Given the description of an element on the screen output the (x, y) to click on. 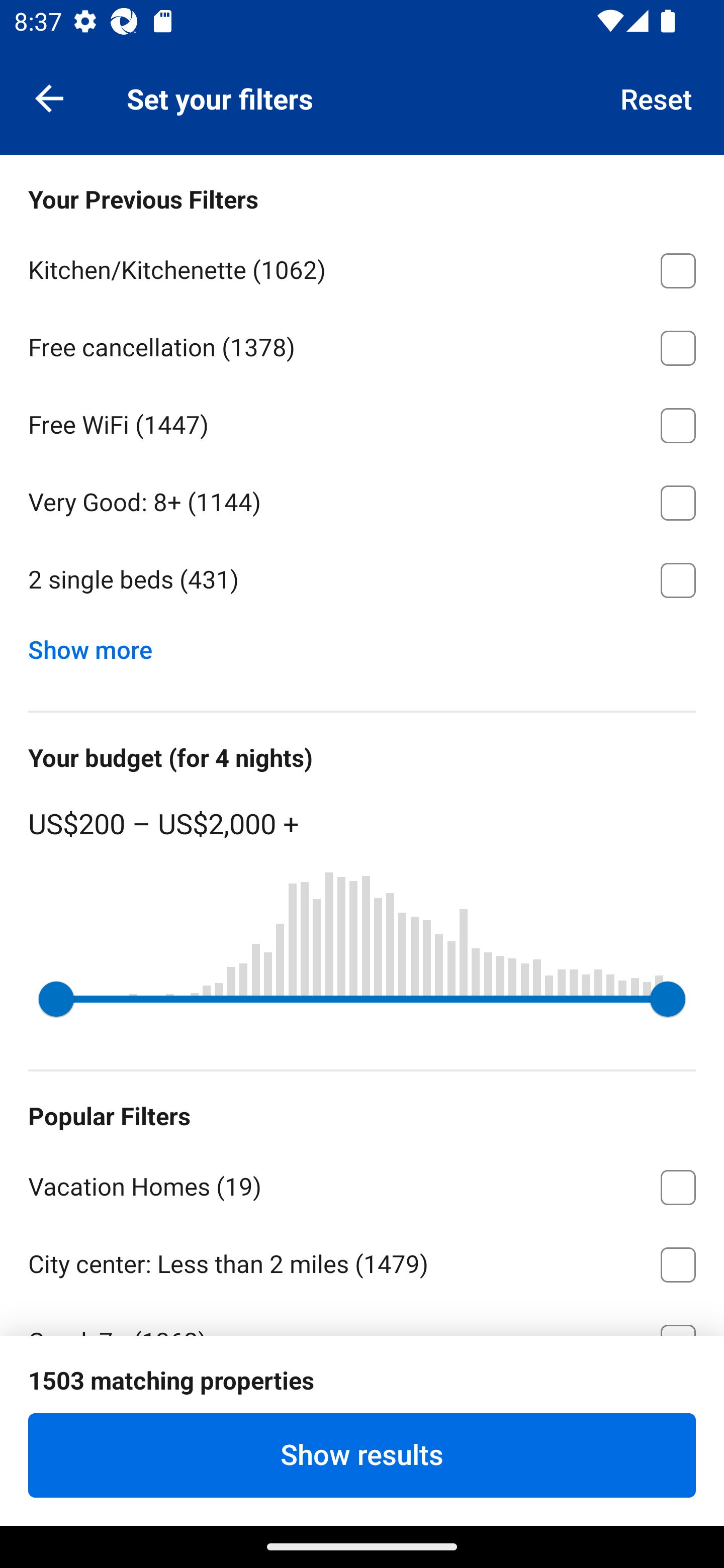
Navigate up (49, 97)
Reset (656, 97)
Kitchen/Kitchenette ⁦(1062) (361, 266)
Free cancellation ⁦(1378) (361, 344)
Free WiFi ⁦(1447) (361, 422)
Very Good: 8+ ⁦(1144) (361, 498)
2 single beds ⁦(431) (361, 579)
Show more (97, 645)
Vacation Homes ⁦(19) (361, 1183)
City center: Less than 2 miles ⁦(1479) (361, 1261)
Show results (361, 1454)
